Given the description of an element on the screen output the (x, y) to click on. 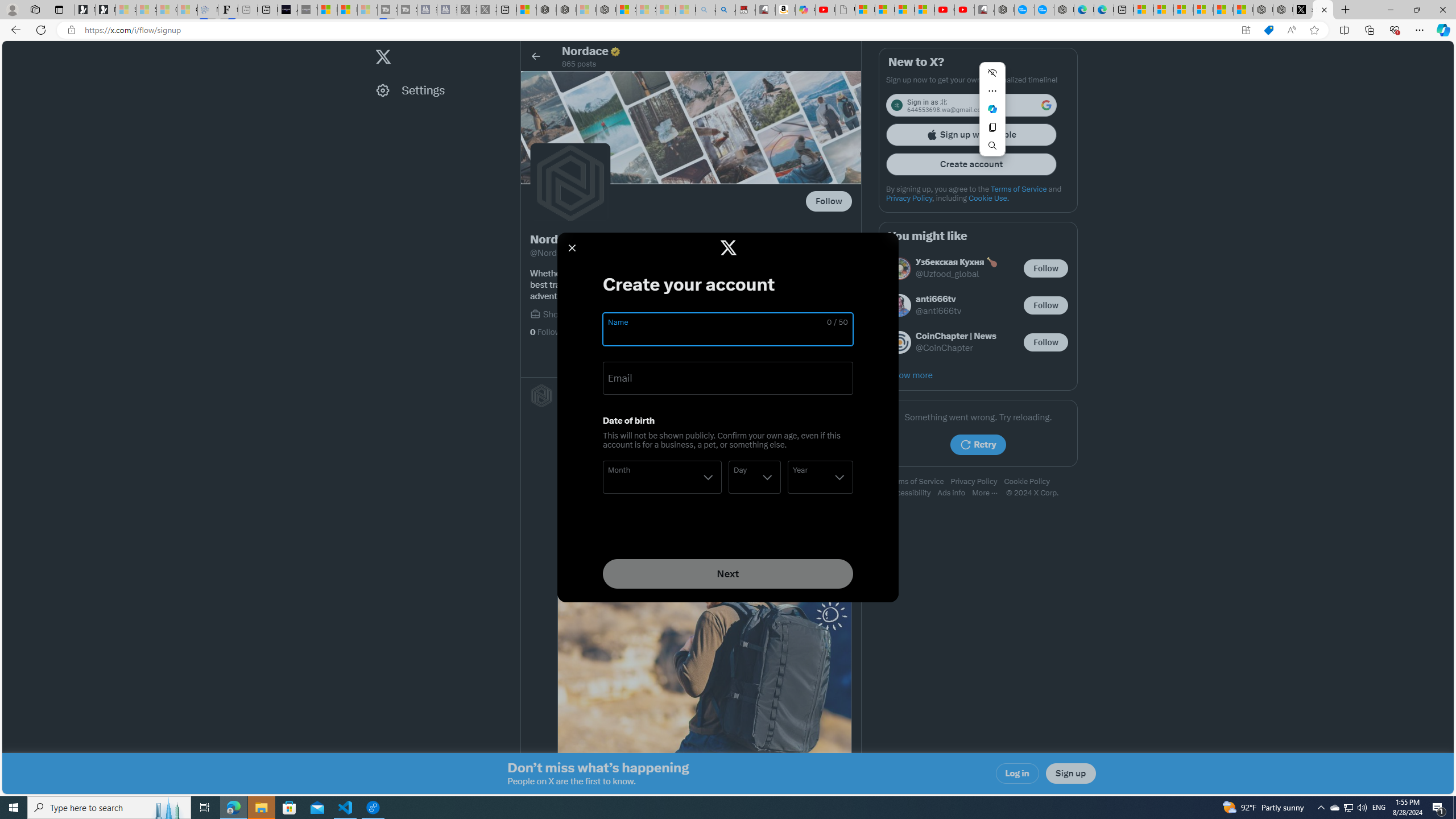
Sign up (1070, 773)
Shopping in Microsoft Edge (1268, 29)
Mini menu on text selection (991, 108)
Nordace - Nordace Siena Is Not An Ordinary Backpack (606, 9)
Ask Copilot (991, 108)
